Given the description of an element on the screen output the (x, y) to click on. 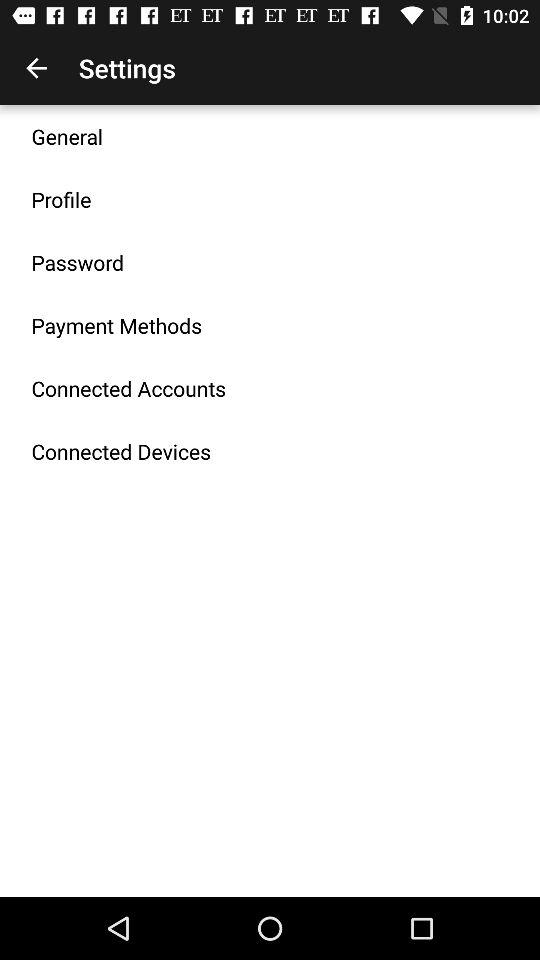
select the password icon (77, 262)
